Given the description of an element on the screen output the (x, y) to click on. 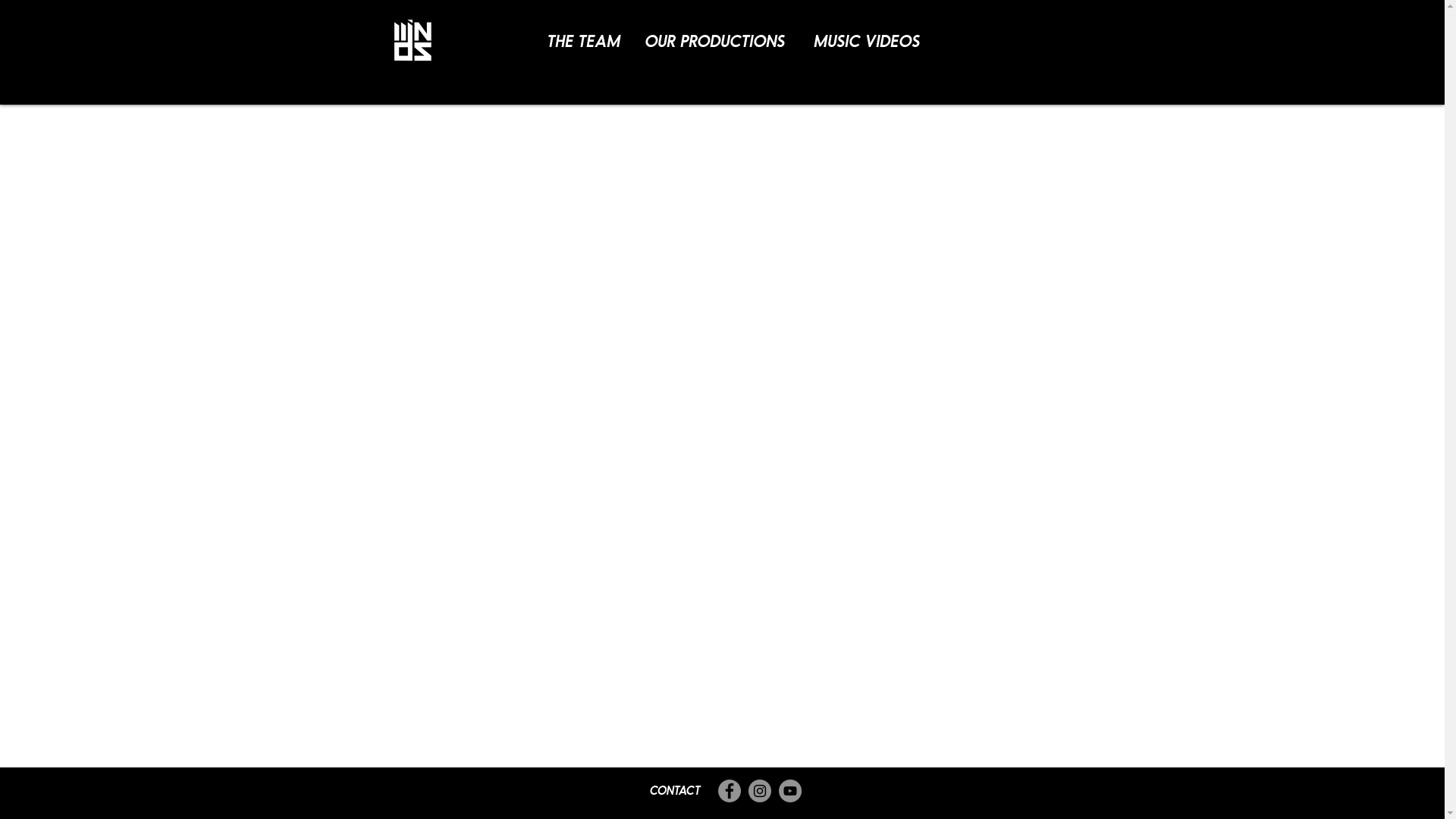
THE TEAM Element type: text (584, 40)
CONTACT Element type: text (675, 790)
OUR PRODUCTIONS Element type: text (715, 40)
MUSIC VIDEOS Element type: text (867, 40)
